Given the description of an element on the screen output the (x, y) to click on. 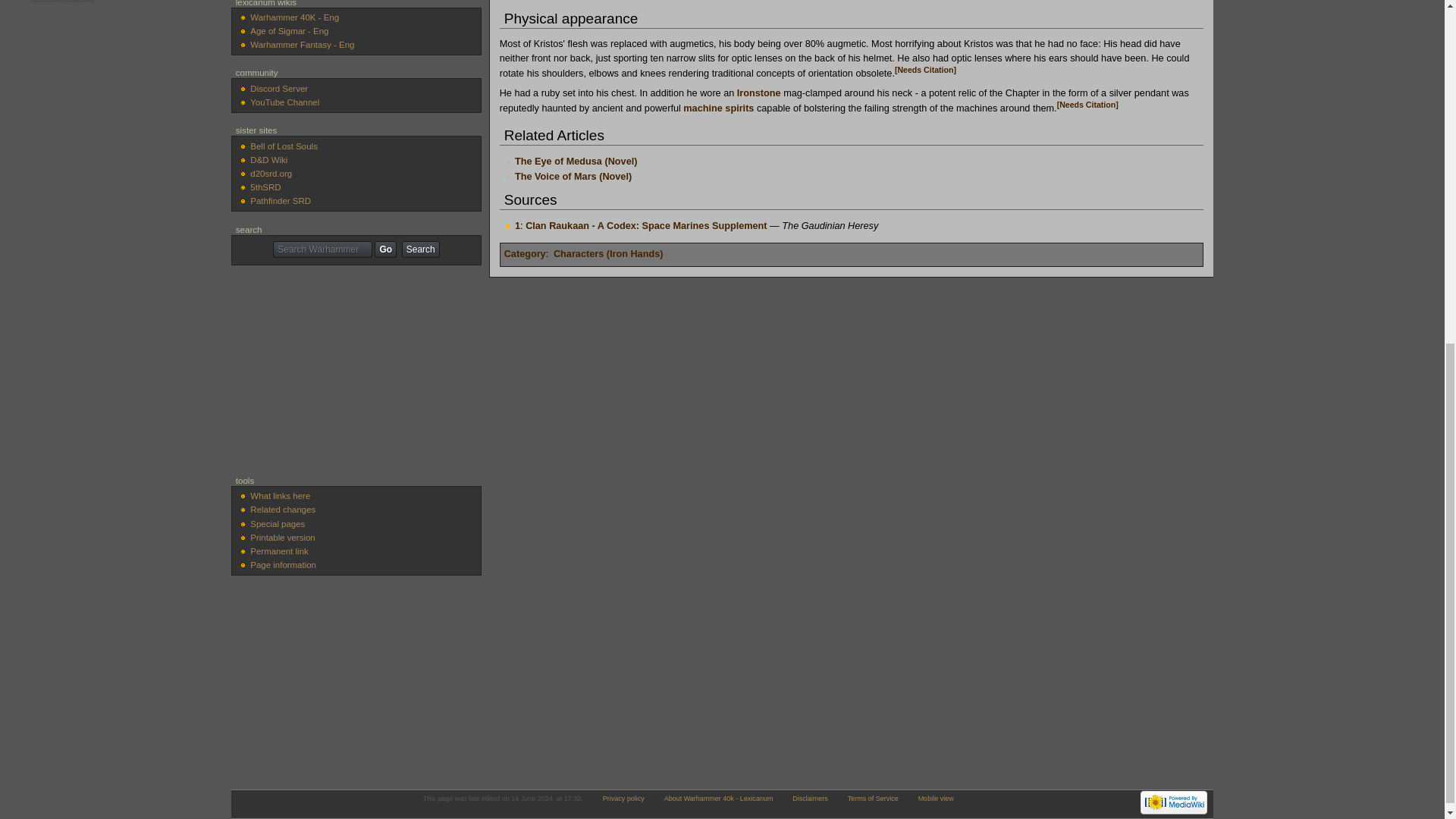
Search (420, 248)
Search (420, 248)
Go (385, 248)
Go (385, 248)
